Given the description of an element on the screen output the (x, y) to click on. 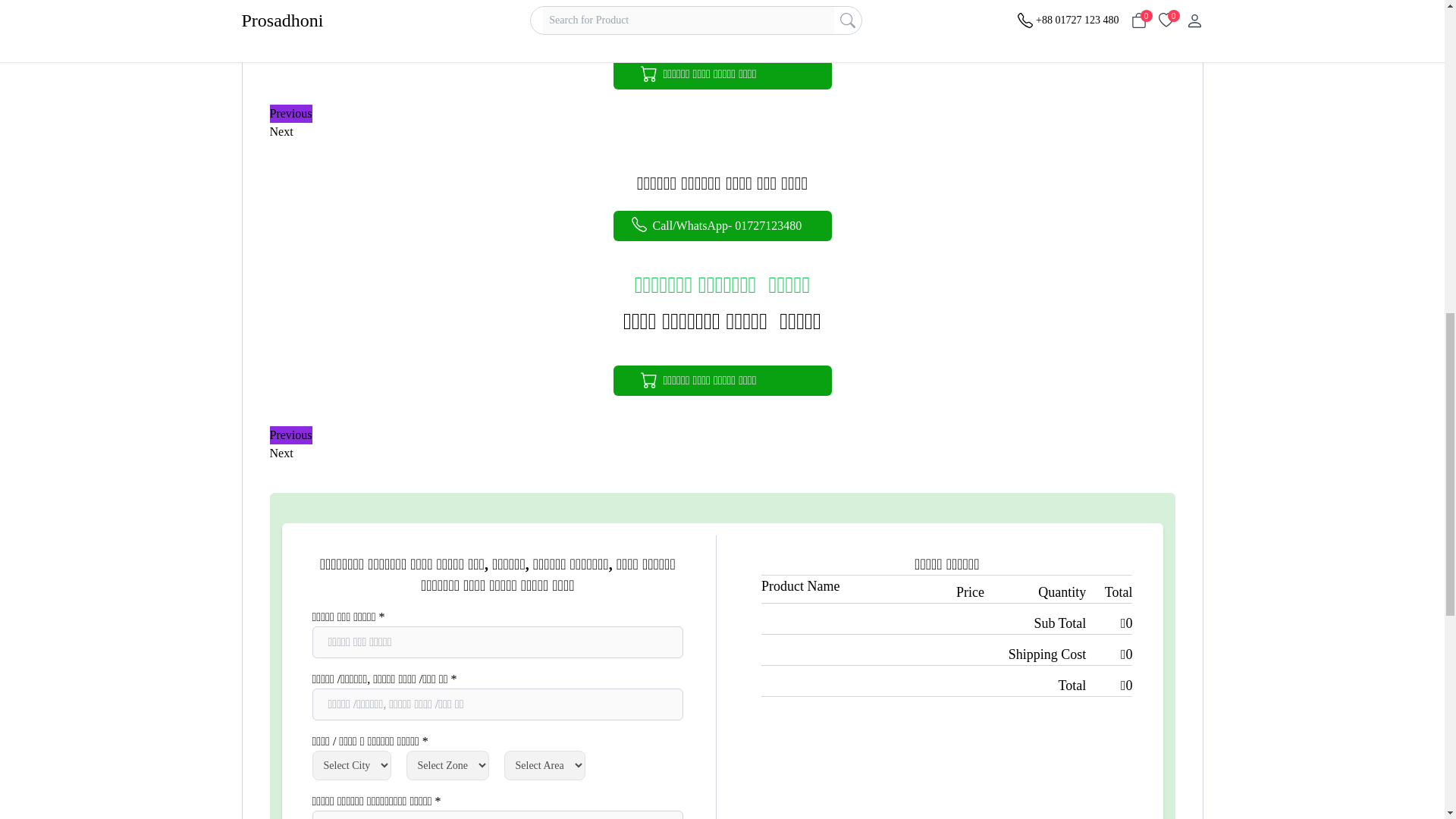
Next (281, 131)
Previous (291, 113)
Next (281, 453)
Previous (291, 434)
